Given the description of an element on the screen output the (x, y) to click on. 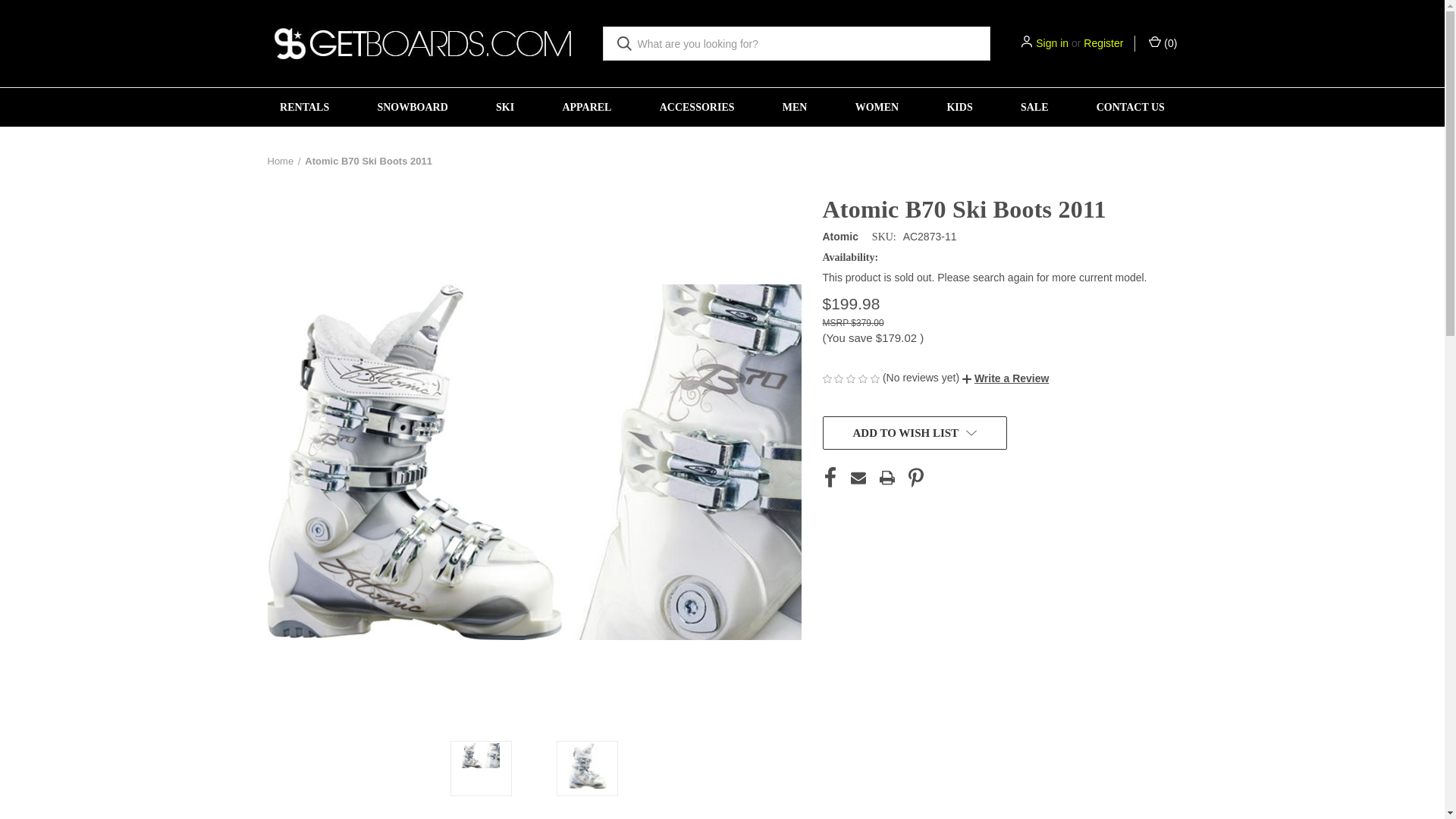
WOMEN (877, 106)
ACCESSORIES (696, 106)
Register (1102, 43)
Home (280, 161)
SALE (1033, 106)
Atomic B70 Ski Boots 2011 (480, 755)
SKI (504, 106)
Sign in (1051, 43)
MEN (794, 106)
APPAREL (586, 106)
RENTALS (304, 106)
CONTACT US (1129, 106)
SNOWBOARD (412, 106)
PayPal Message 1 (997, 358)
